Given the description of an element on the screen output the (x, y) to click on. 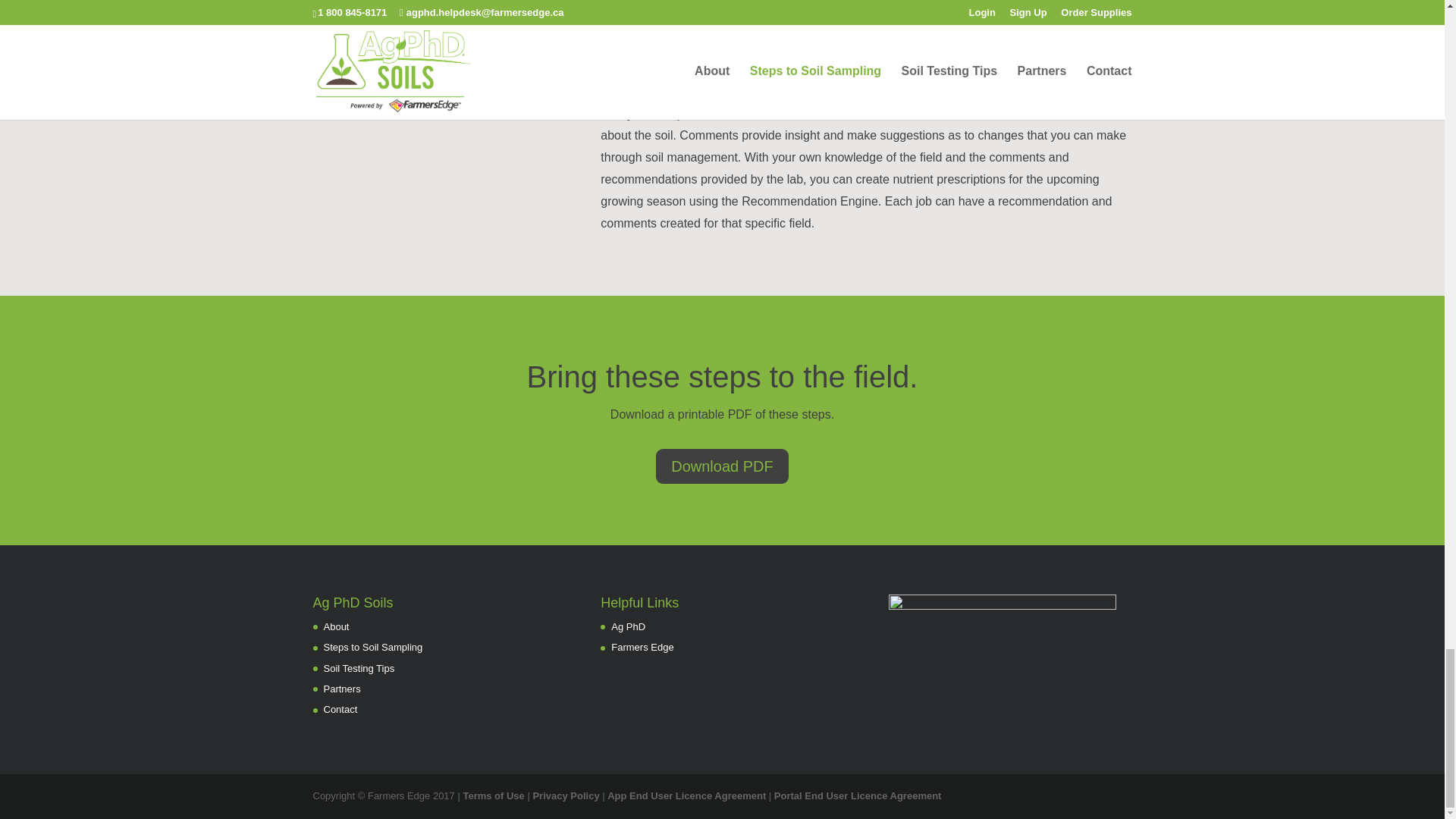
Partners (341, 688)
App End User Licence Agreement (686, 795)
Download PDF (722, 466)
Ag PhD (628, 626)
Farmers Edge (641, 646)
About (336, 626)
Soil Testing Tips (358, 668)
Privacy Policy (565, 795)
Steps to Soil Sampling (372, 646)
Portal End User Licence Agreement (858, 795)
